Given the description of an element on the screen output the (x, y) to click on. 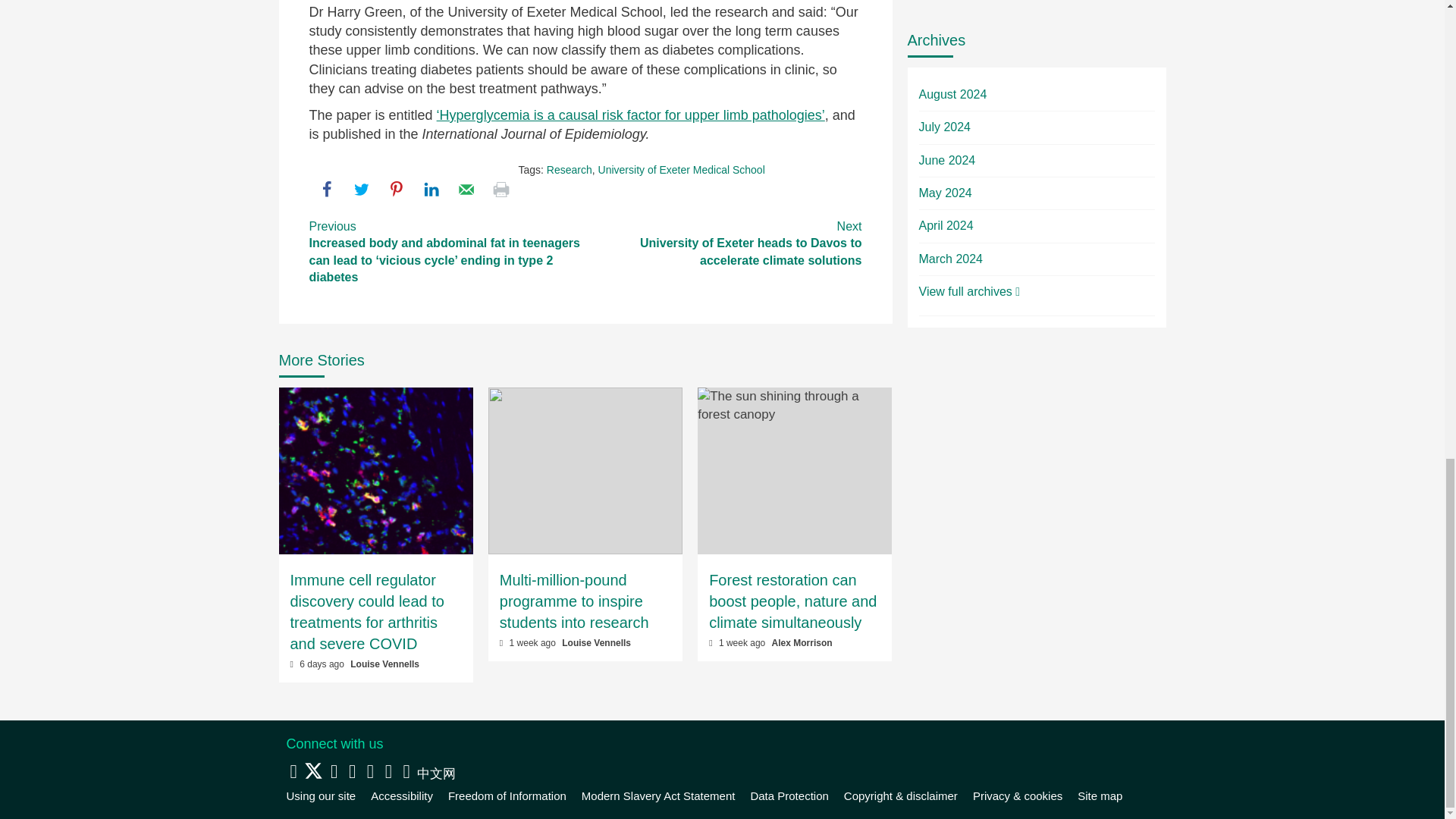
Share on Facebook (325, 189)
Save to Pinterest (395, 189)
Share on Twitter (360, 189)
Share on LinkedIn (430, 189)
Send over email (465, 189)
Print this webpage (500, 189)
